Given the description of an element on the screen output the (x, y) to click on. 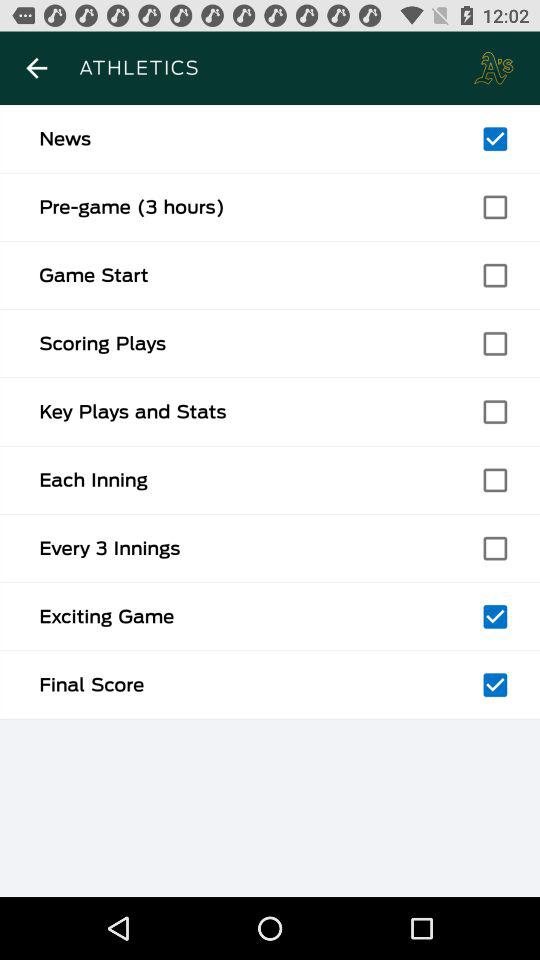
tick box (495, 275)
